Given the description of an element on the screen output the (x, y) to click on. 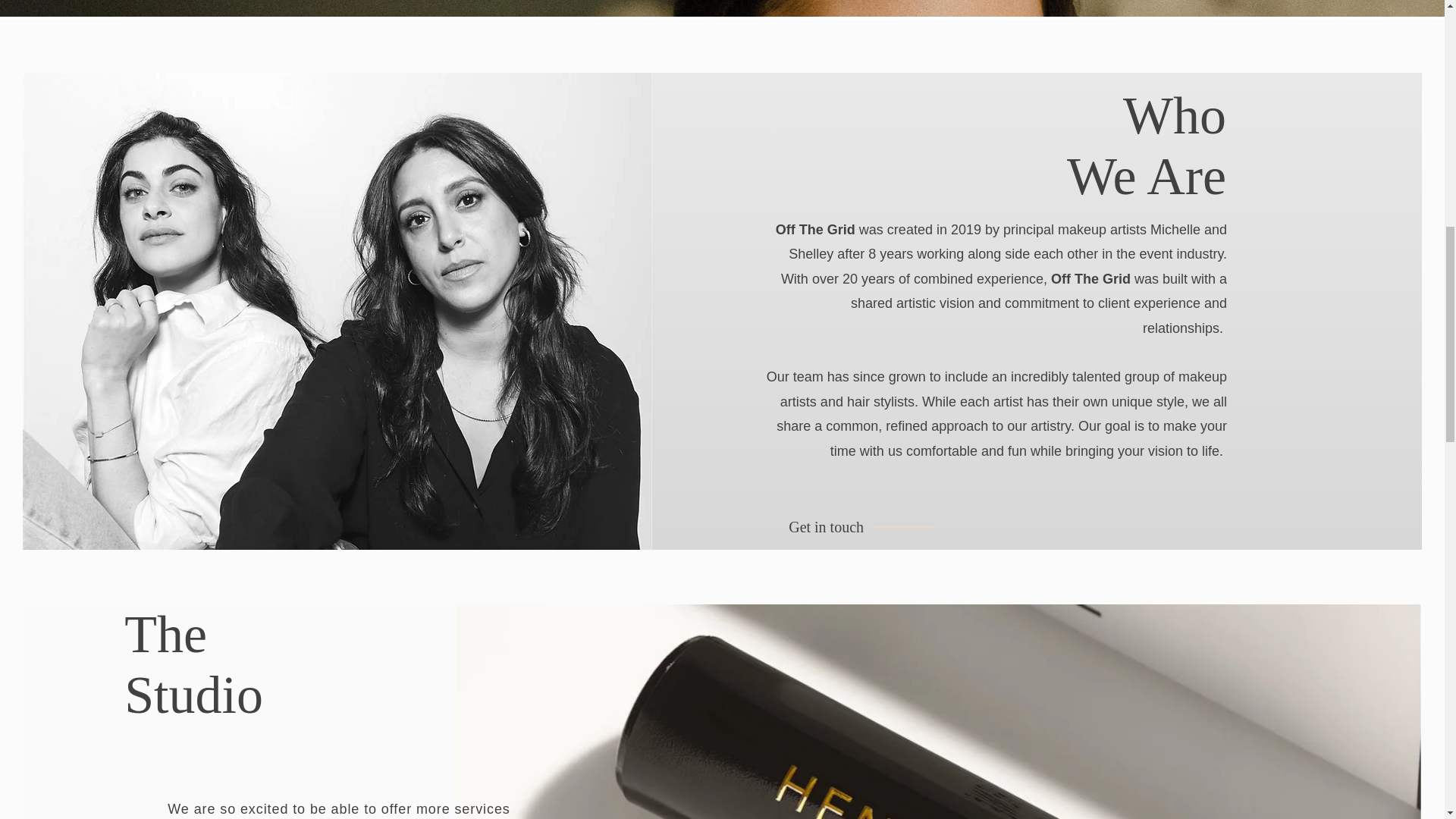
Get in touch (825, 526)
